Given the description of an element on the screen output the (x, y) to click on. 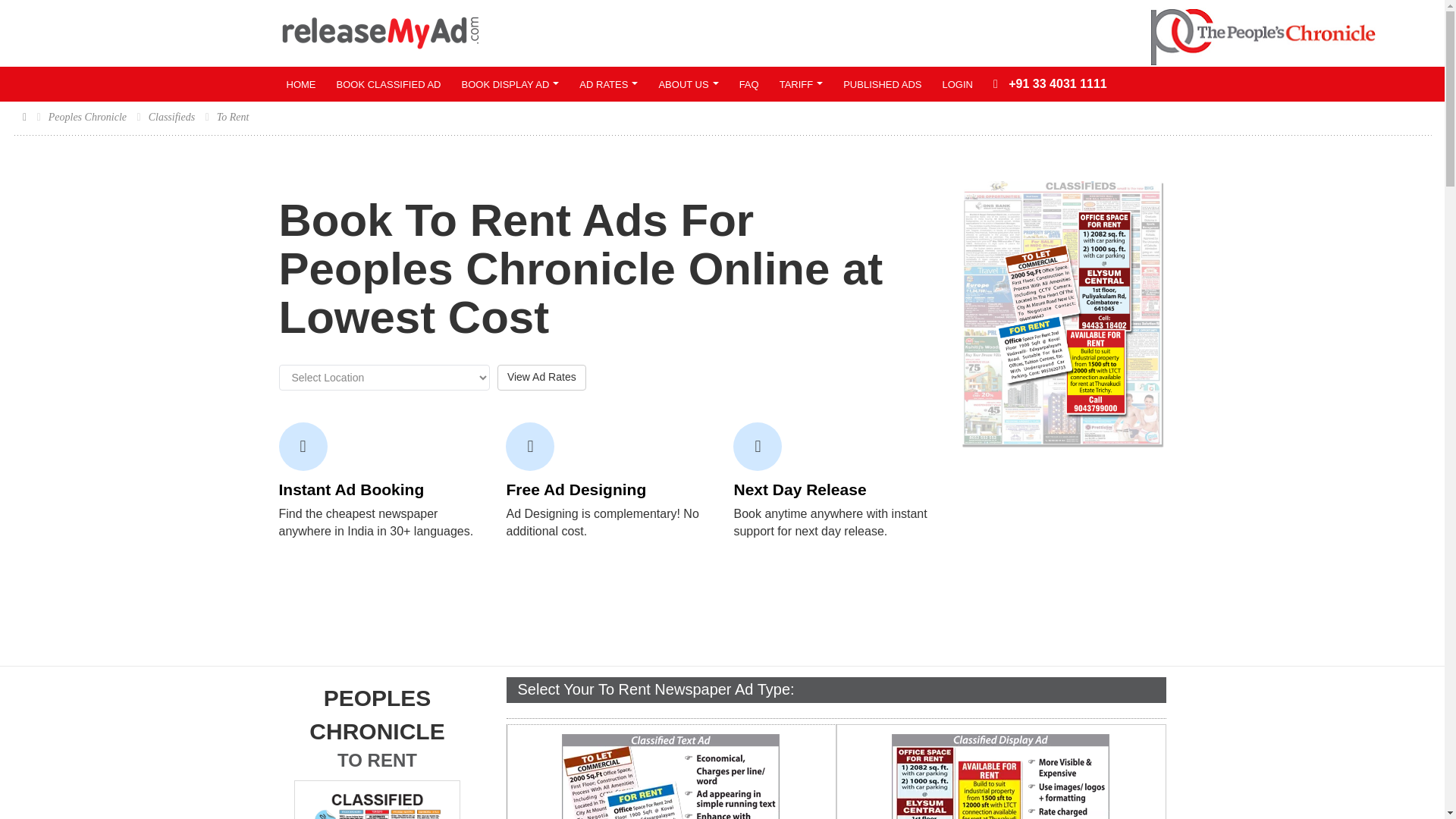
Peoples Chronicle-To Rent-Ad-Rates (377, 750)
releaseMyAd.com (377, 799)
Peoples Chronicle To Rent display classified rates (380, 32)
BOOK CLASSIFIED AD (671, 776)
AD RATES (388, 84)
TARIFF (608, 84)
Peoples Chronicle To Rent classified rates (801, 84)
Peoples Chronicle Advertisement Booking (1000, 776)
BOOK DISPLAY AD (1262, 36)
ABOUT US (510, 84)
